Given the description of an element on the screen output the (x, y) to click on. 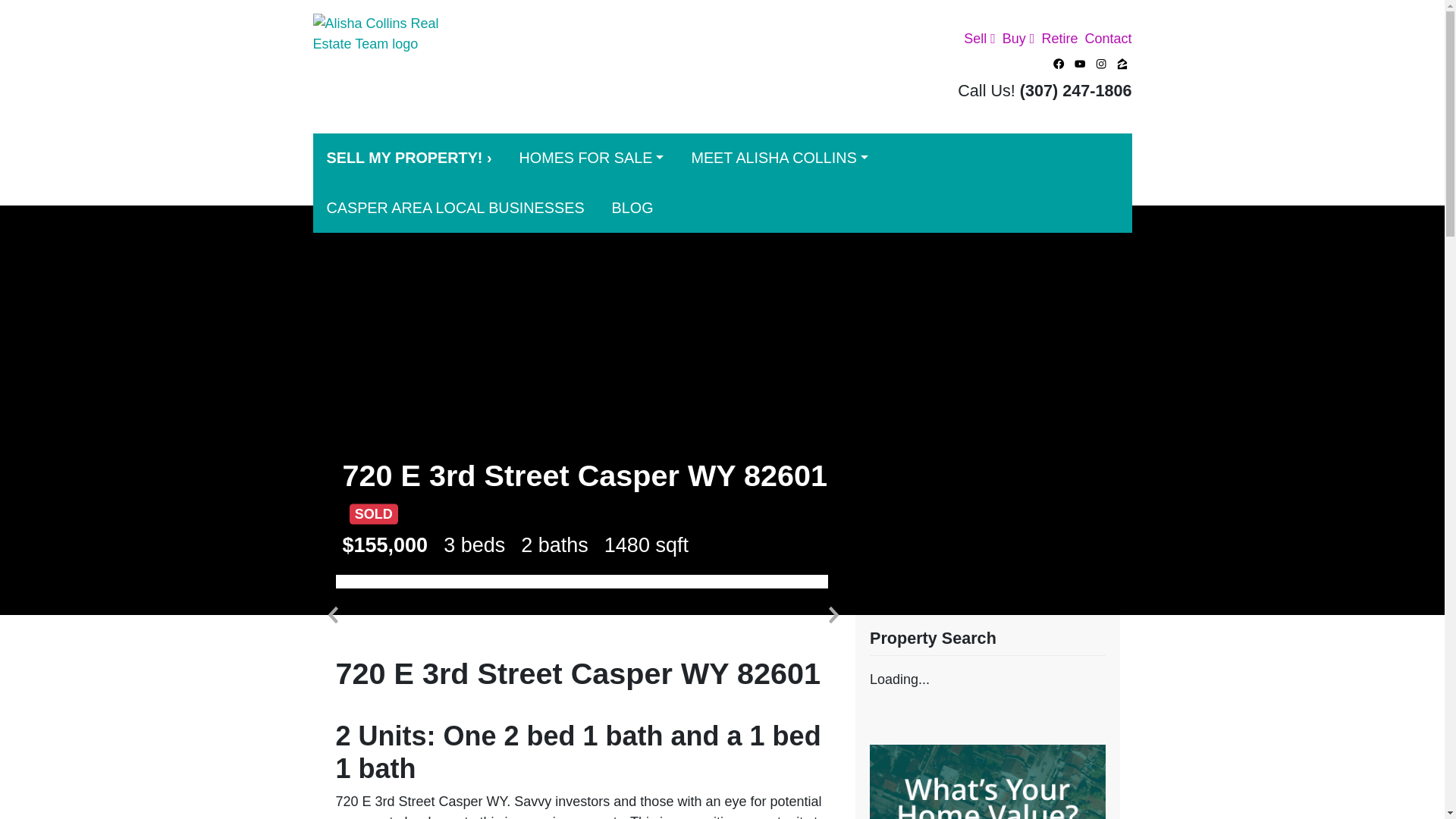
MEET ALISHA COLLINS (778, 158)
Casper Area Local Businesses (454, 208)
Meet Alisha Collins (778, 158)
YouTube (1079, 64)
Homes For Sale (591, 158)
Blog (632, 208)
BLOG (632, 208)
Zillow (1122, 64)
Contact (1104, 39)
CASPER AREA LOCAL BUSINESSES (454, 208)
